Given the description of an element on the screen output the (x, y) to click on. 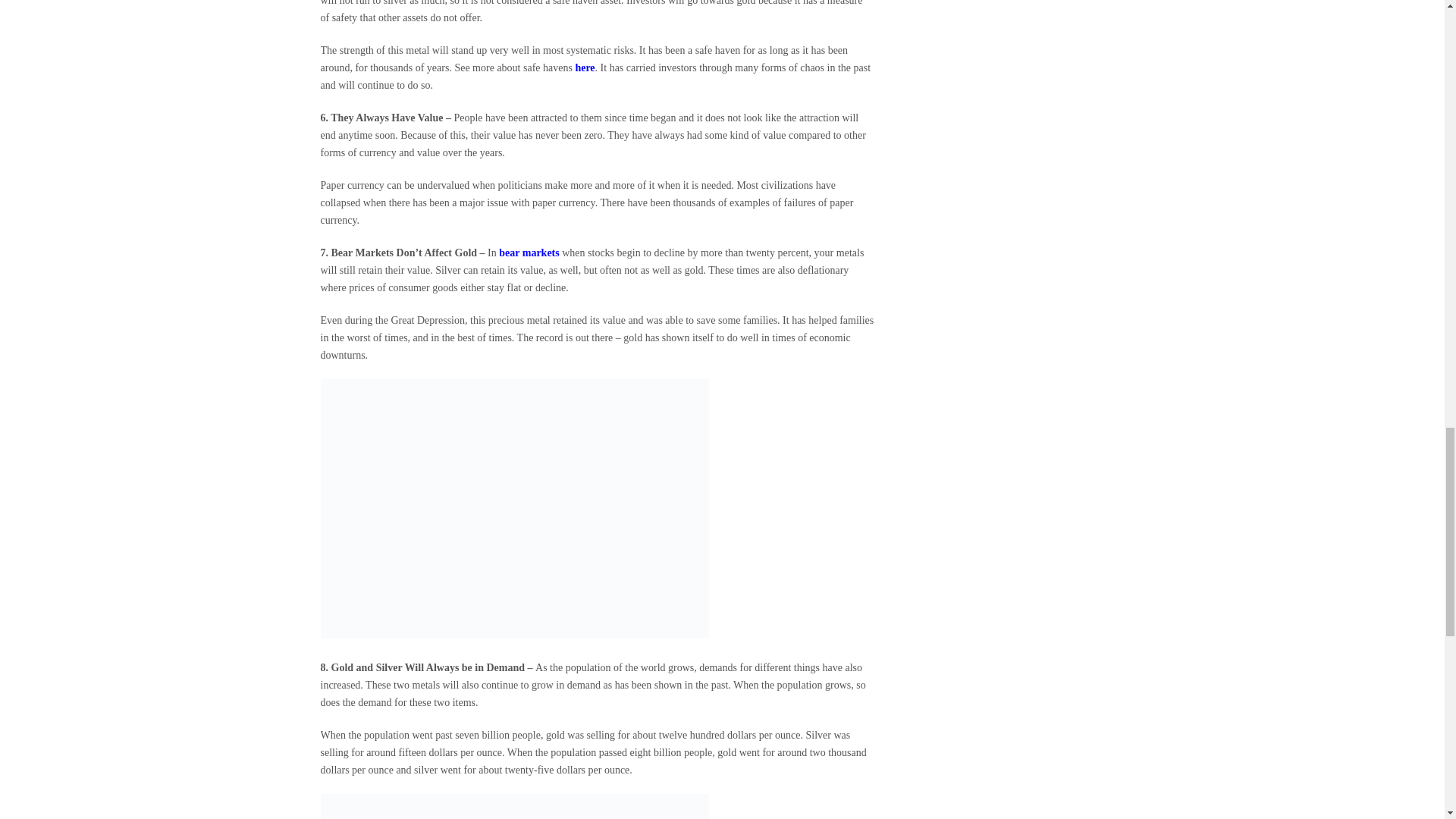
bear markets (529, 252)
here (584, 67)
